Given the description of an element on the screen output the (x, y) to click on. 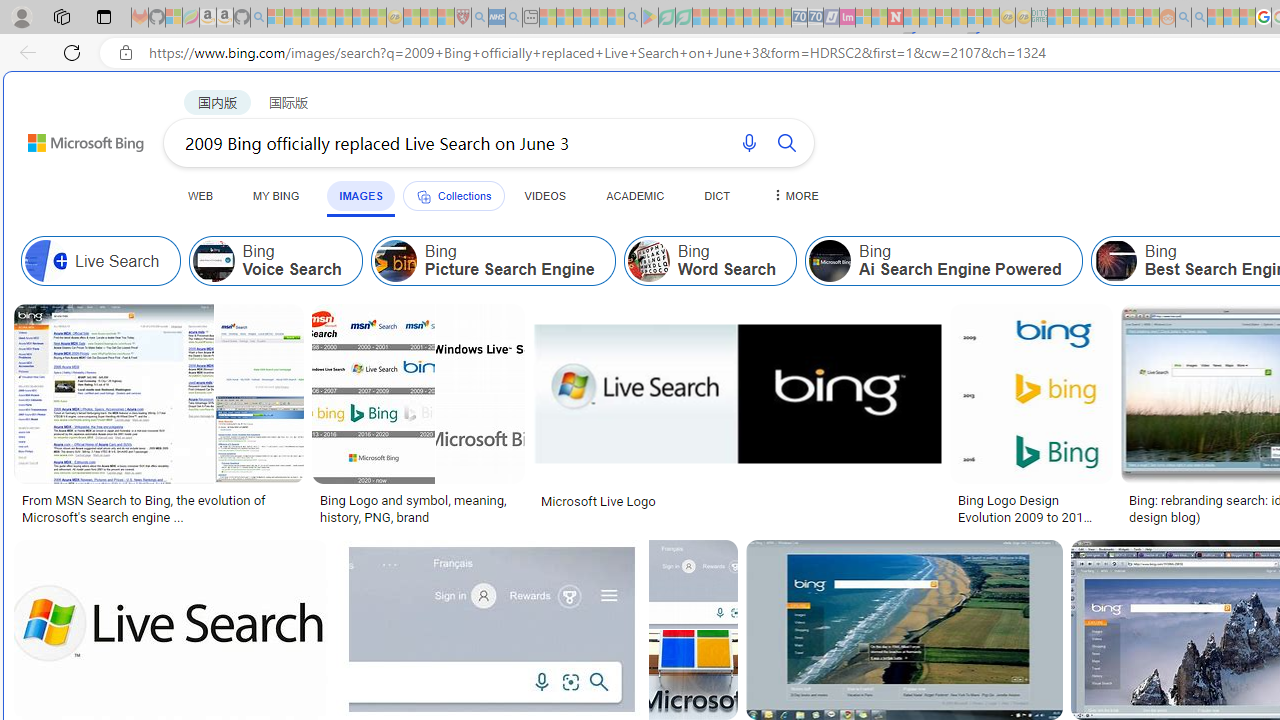
DICT (717, 195)
Bing Voice Search (213, 260)
Latest Politics News & Archive | Newsweek.com - Sleeping (895, 17)
Search button (786, 142)
Class: b_pri_nav_svg (423, 196)
Microsoft Live Logo (737, 500)
Bing Logo Design Evolution 2009 to 2016 | Smithographic (1031, 507)
Dropdown Menu (793, 195)
Bing Ai Search Engine Powered (943, 260)
Expert Portfolios - Sleeping (1103, 17)
Local - MSN - Sleeping (445, 17)
